Given the description of an element on the screen output the (x, y) to click on. 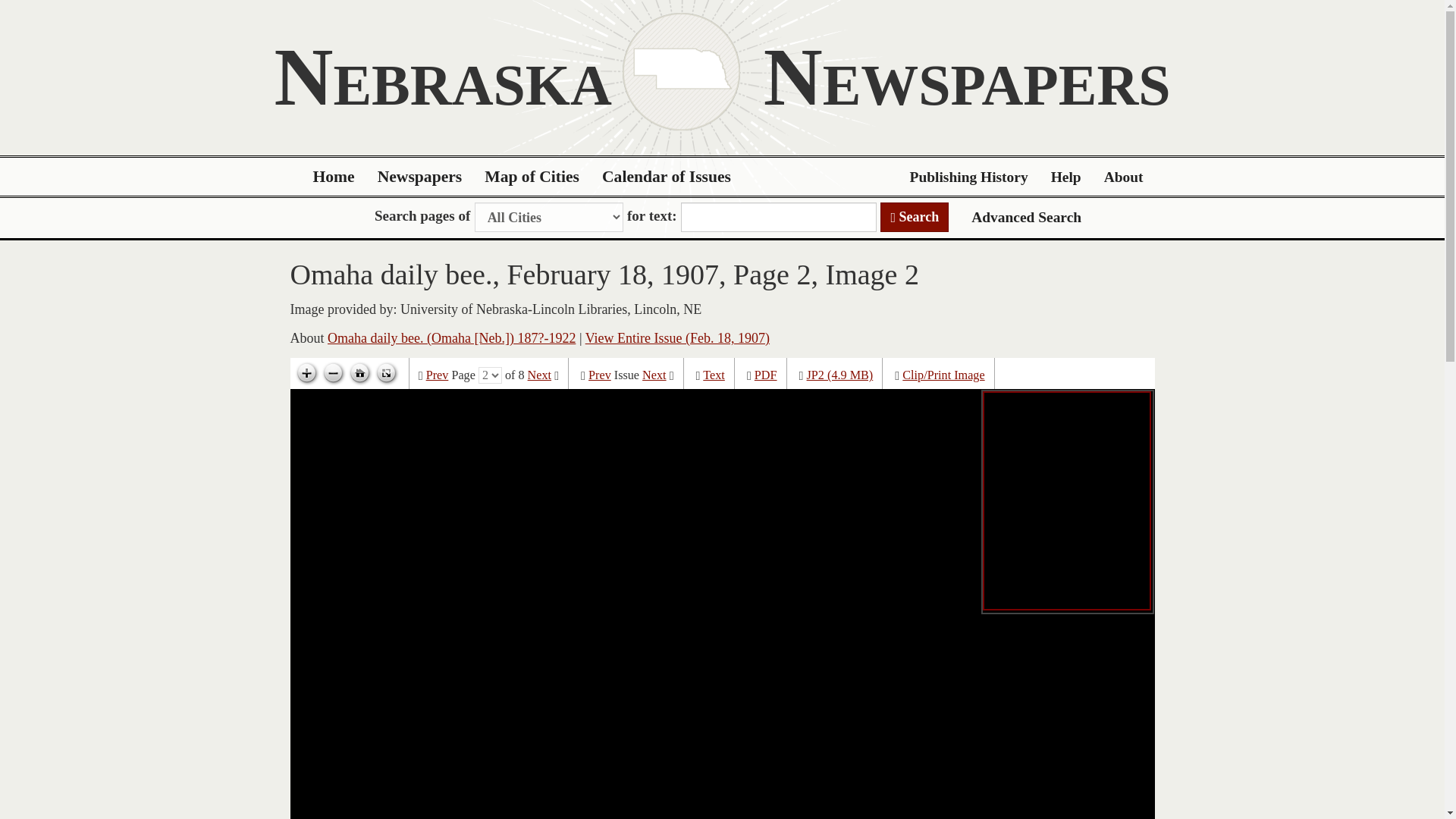
PDF (765, 375)
Home (333, 176)
Search (914, 217)
Zoom in (307, 373)
Text (714, 375)
About (1123, 176)
Map of Cities (532, 176)
Calendar of Issues (666, 176)
Prev (599, 375)
Toggle full page (385, 373)
